Given the description of an element on the screen output the (x, y) to click on. 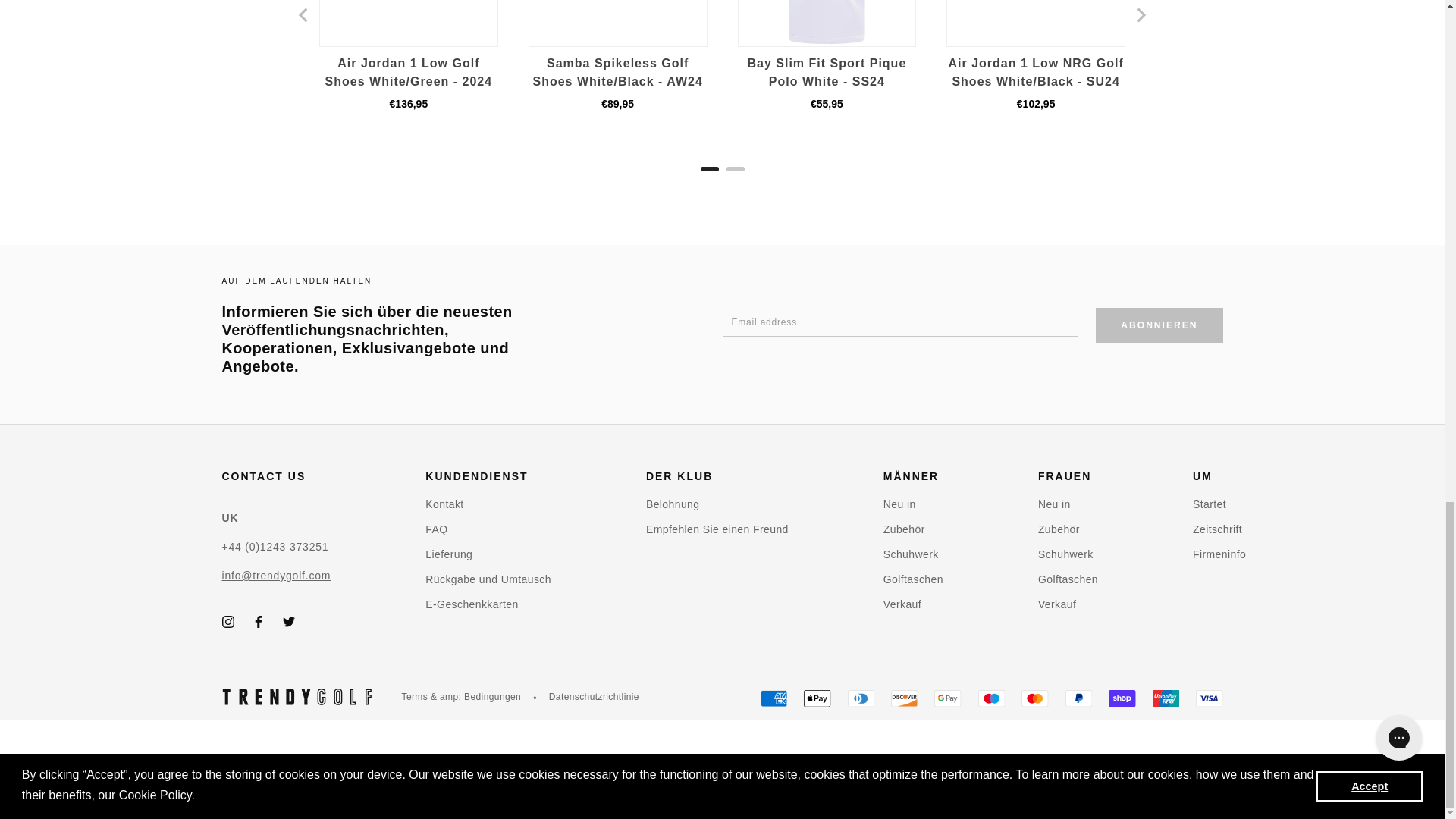
Abonnieren (1159, 325)
